Given the description of an element on the screen output the (x, y) to click on. 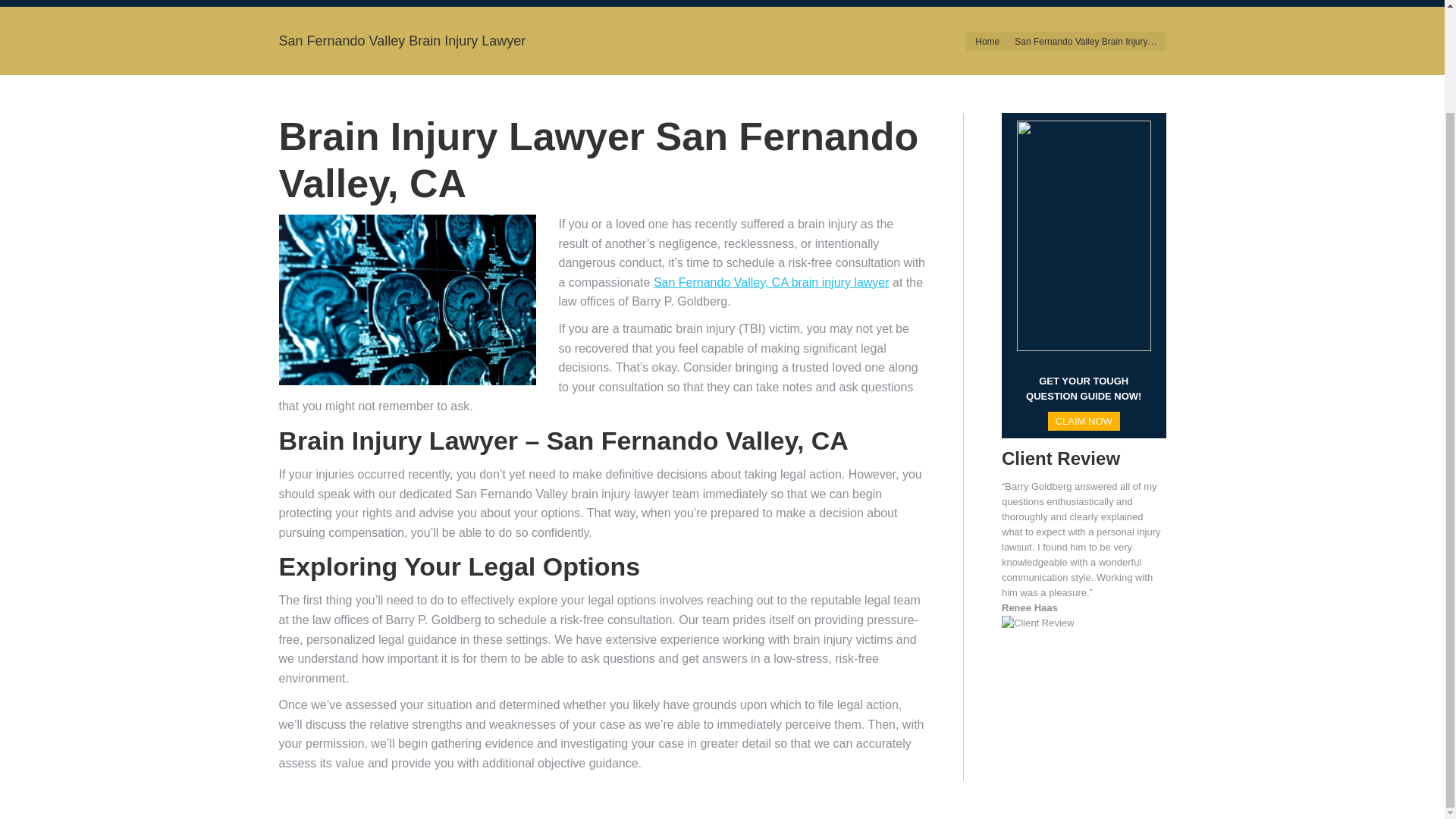
Home (986, 41)
